Given the description of an element on the screen output the (x, y) to click on. 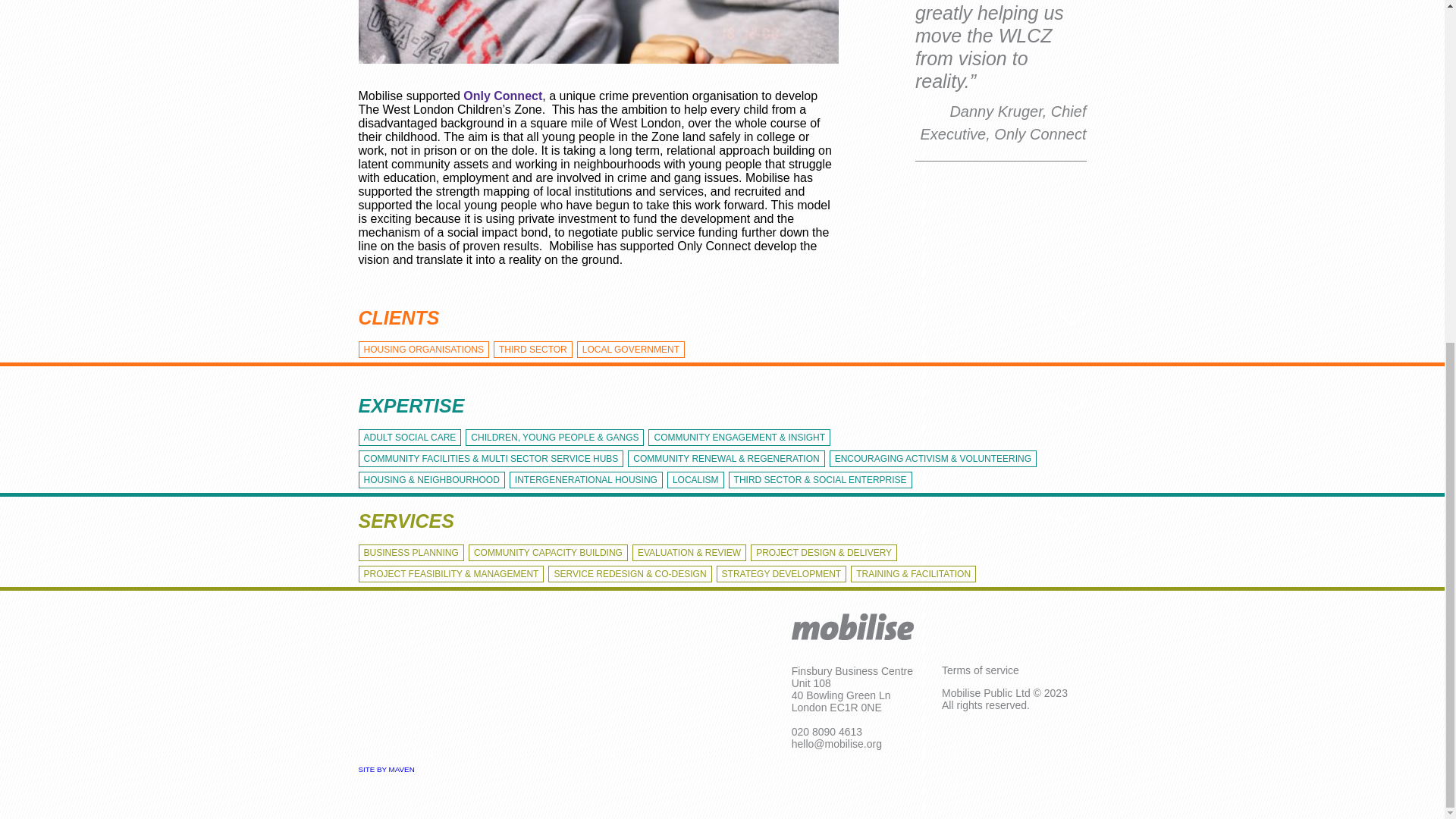
COMMUNITY CAPACITY BUILDING (547, 552)
Only Connect (502, 95)
HOUSING ORGANISATIONS (422, 349)
Only Connect (502, 95)
INTERGENERATIONAL HOUSING (585, 479)
ADULT SOCIAL CARE (409, 437)
LOCALISM (694, 479)
THIRD SECTOR (532, 349)
LOCAL GOVERNMENT (630, 349)
BUSINESS PLANNING (410, 552)
